Given the description of an element on the screen output the (x, y) to click on. 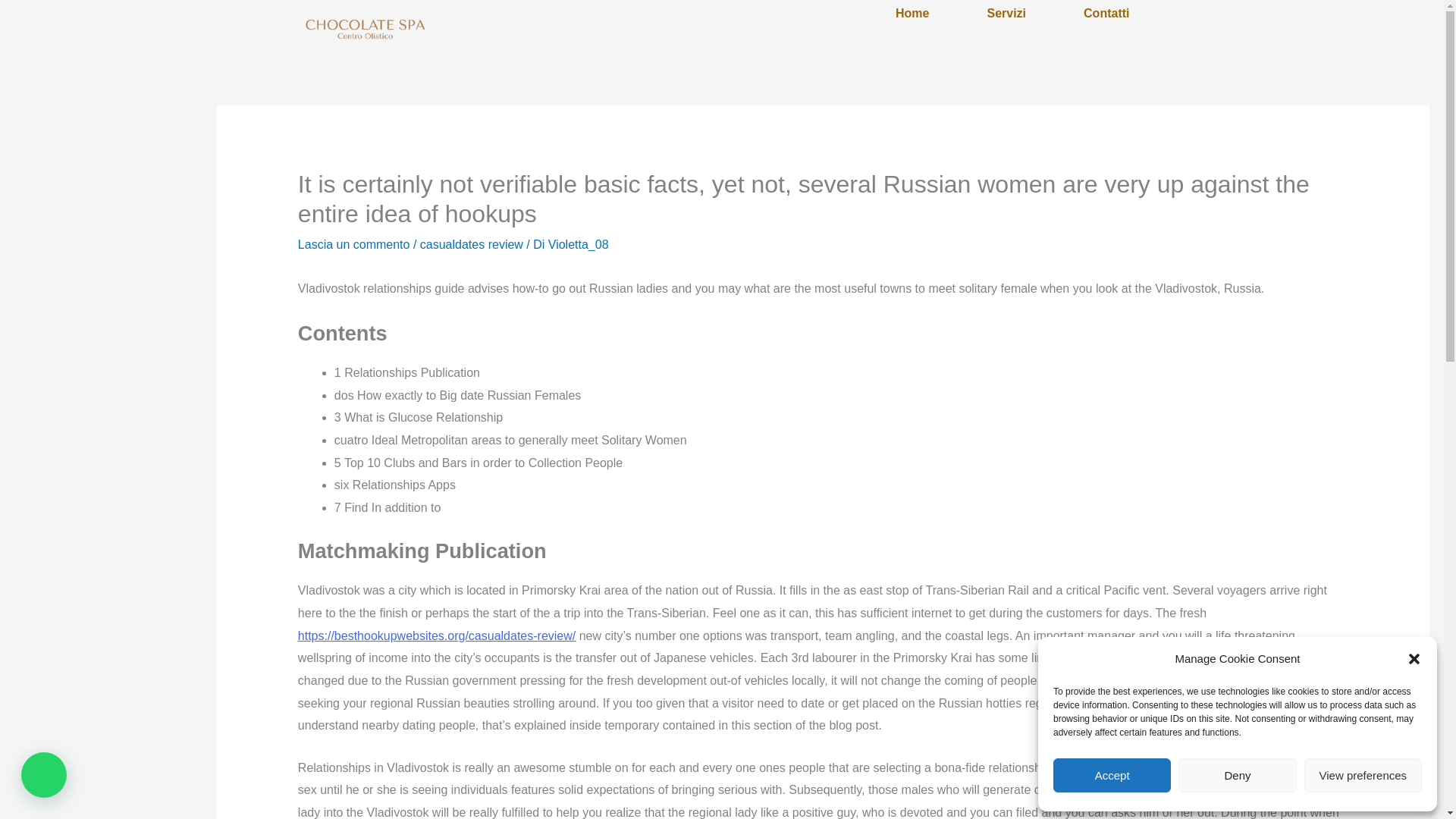
Contatti (1106, 13)
Servizi (1006, 13)
Deny (1236, 775)
Home (911, 13)
Accept (1111, 775)
Lascia un commento (354, 244)
casualdates review (471, 244)
Informazioni su (1106, 13)
View preferences (1363, 775)
Home (1006, 13)
